Given the description of an element on the screen output the (x, y) to click on. 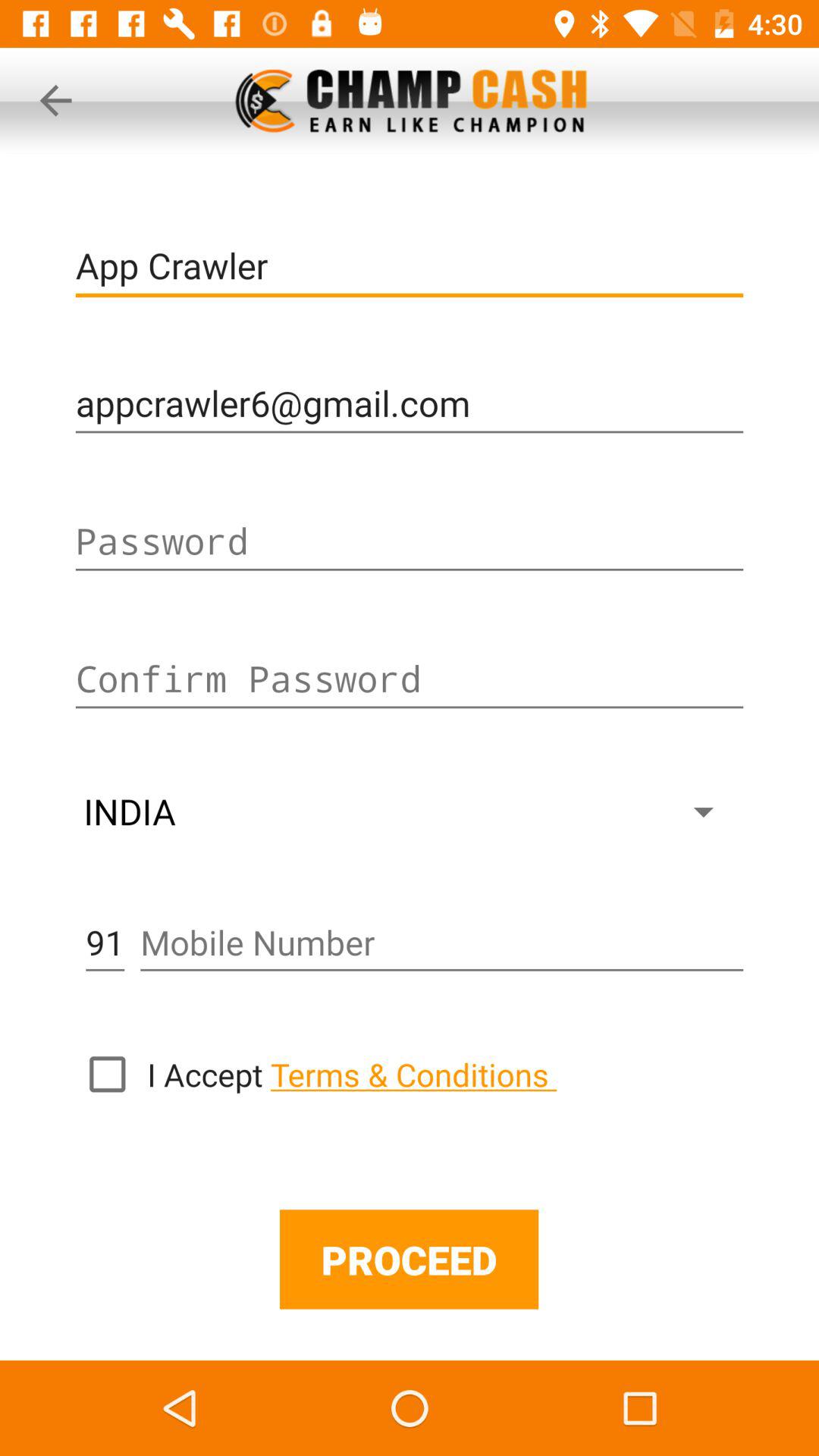
insert password (409, 541)
